Given the description of an element on the screen output the (x, y) to click on. 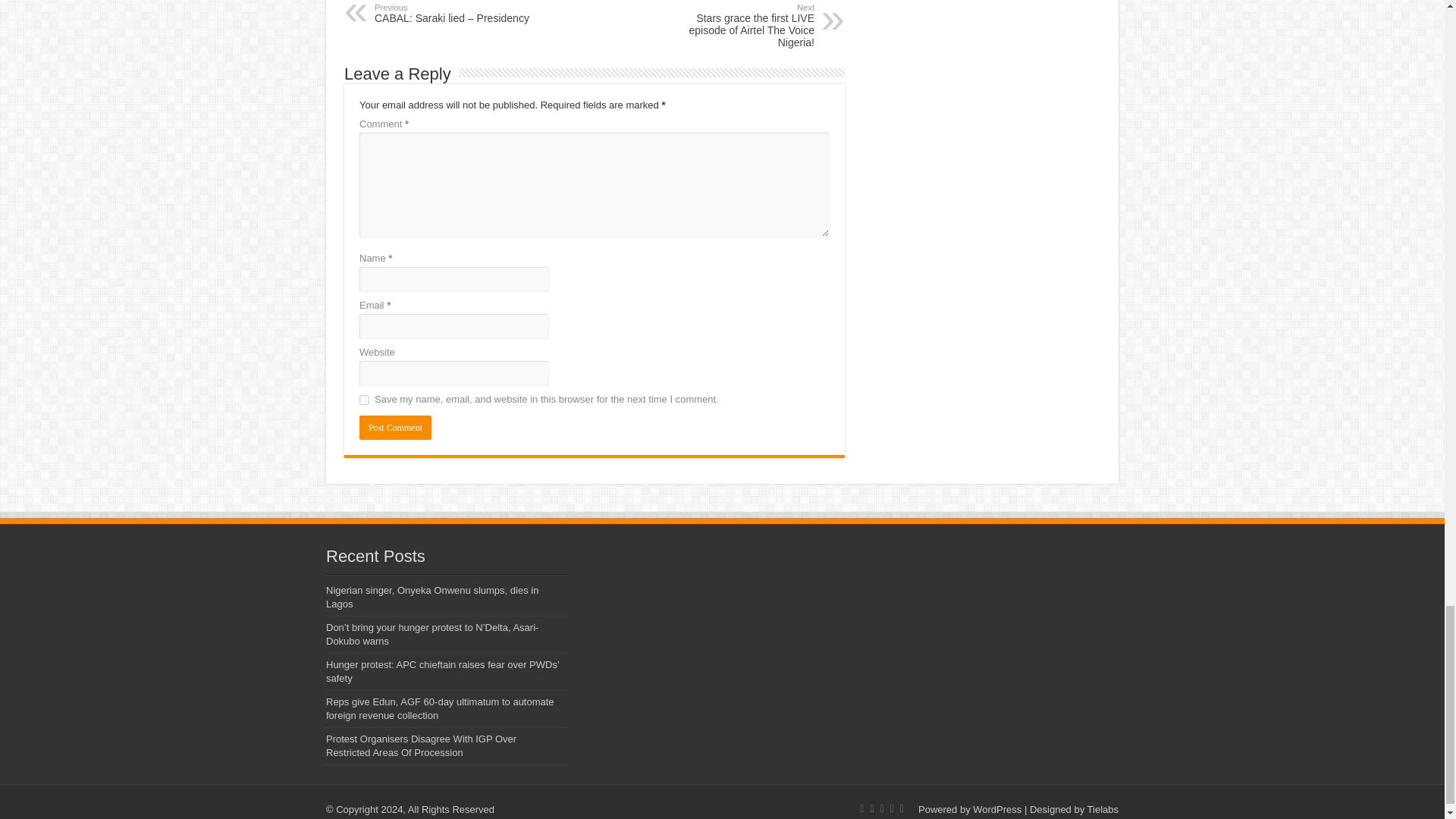
yes (364, 399)
Post Comment (394, 427)
